Given the description of an element on the screen output the (x, y) to click on. 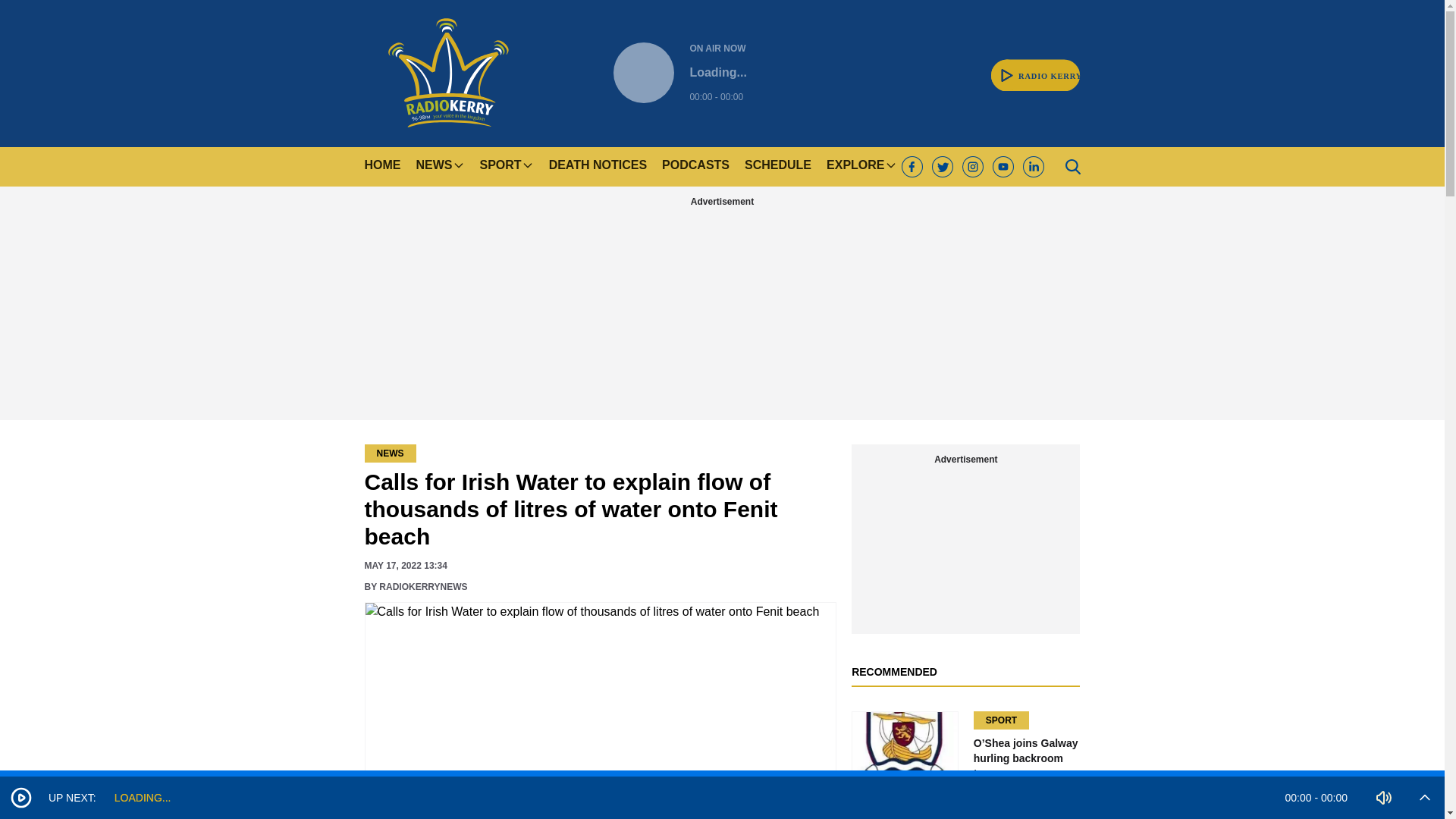
RADIO KERRY (1035, 66)
PODCASTS (679, 72)
HOME (695, 166)
DEATH NOTICES (382, 166)
RADIO KERRY (597, 166)
RadioKerry.ie (1035, 66)
SCHEDULE (447, 72)
